Given the description of an element on the screen output the (x, y) to click on. 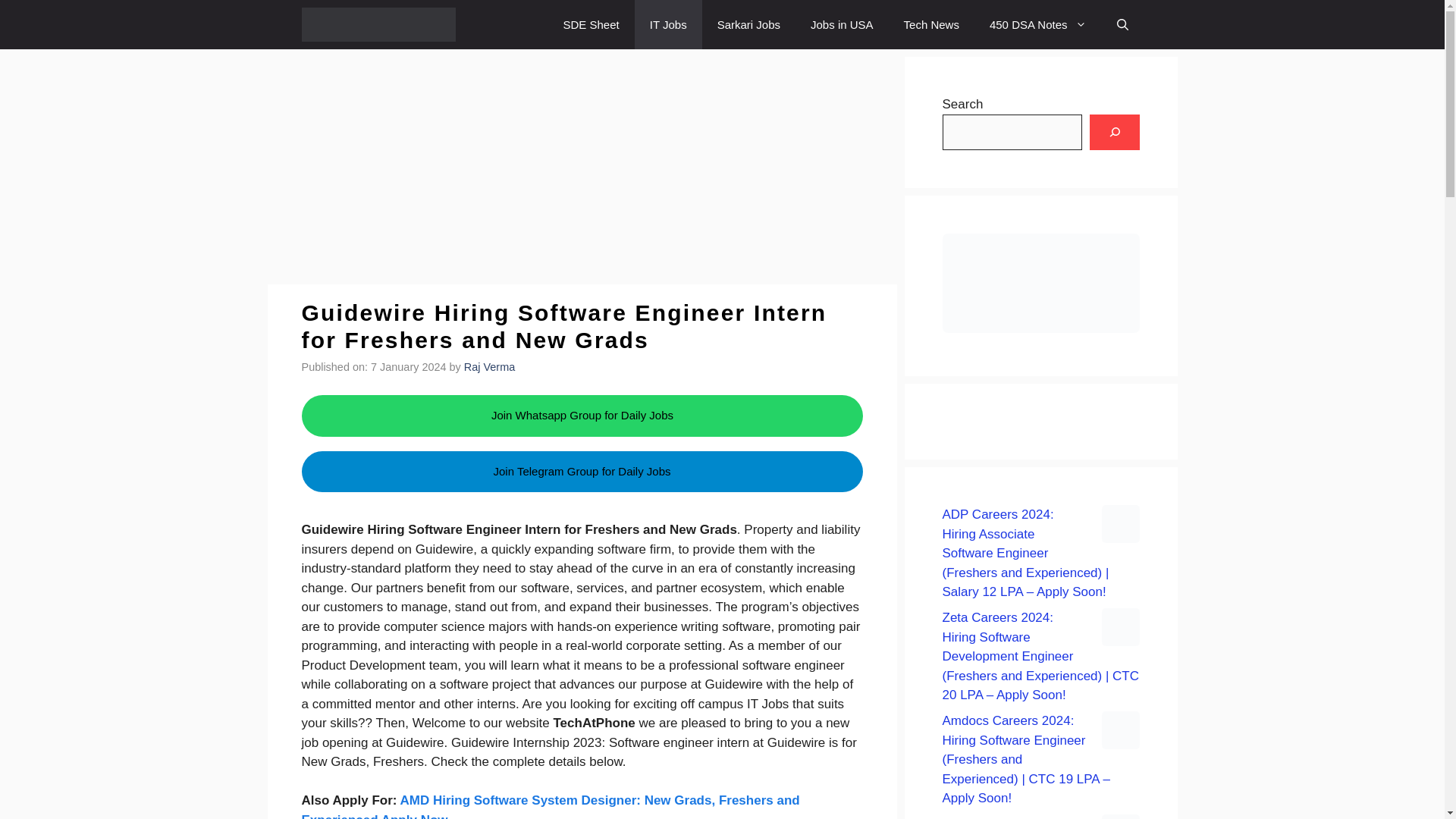
Join Whatsapp Group for Daily Jobs (580, 415)
450 DSA Notes (1038, 24)
Sarkari Jobs (747, 24)
Join Telegram Group for Daily Jobs (582, 499)
TechAtPhone (379, 24)
Join Telegram Group for Daily Jobs (582, 472)
Jobs in USA (841, 24)
Tech News (931, 24)
SDE Sheet (591, 24)
Join Whatsapp Group for Daily Jobs (582, 414)
